Given the description of an element on the screen output the (x, y) to click on. 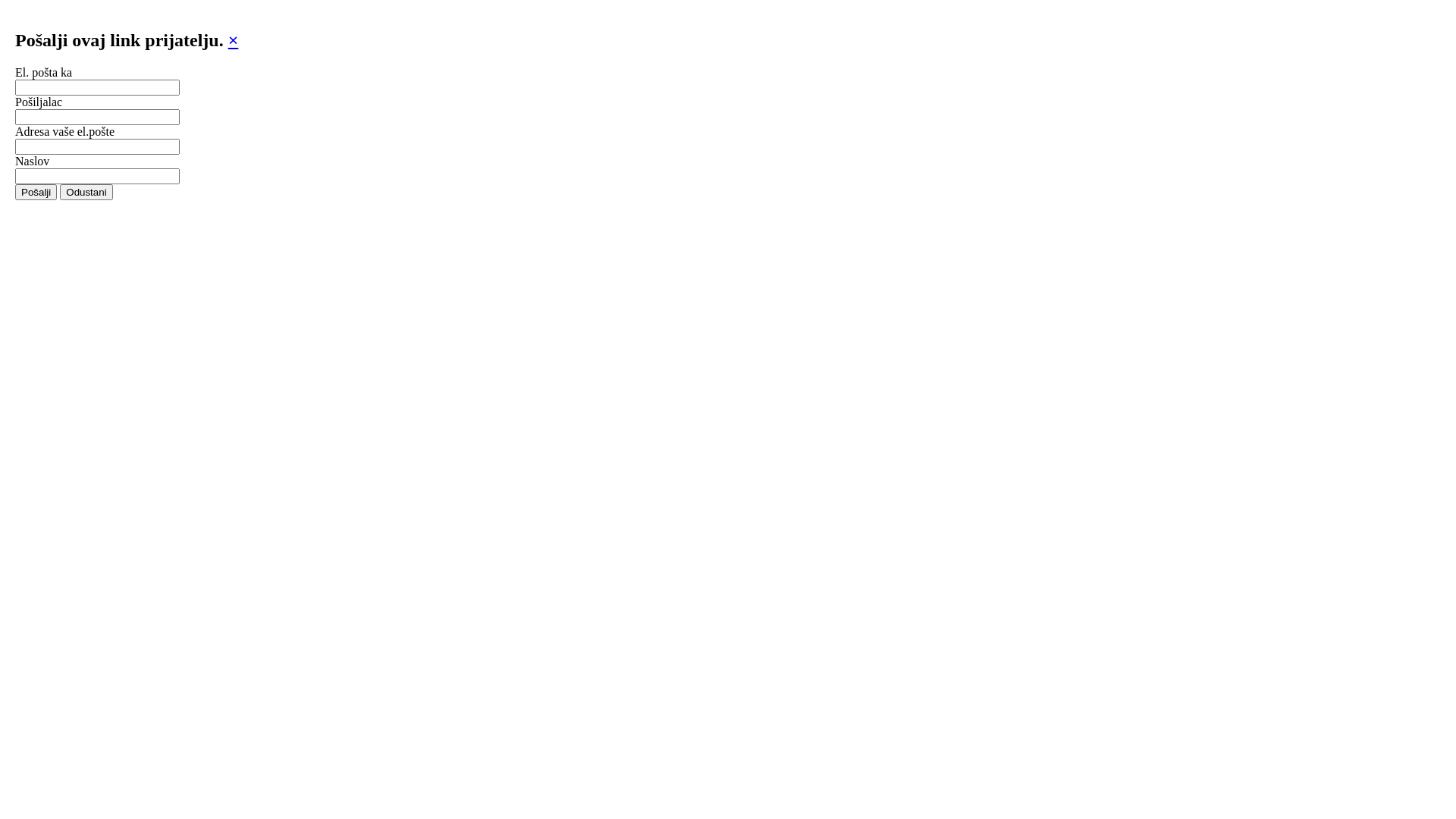
Odustani Element type: text (85, 192)
